Given the description of an element on the screen output the (x, y) to click on. 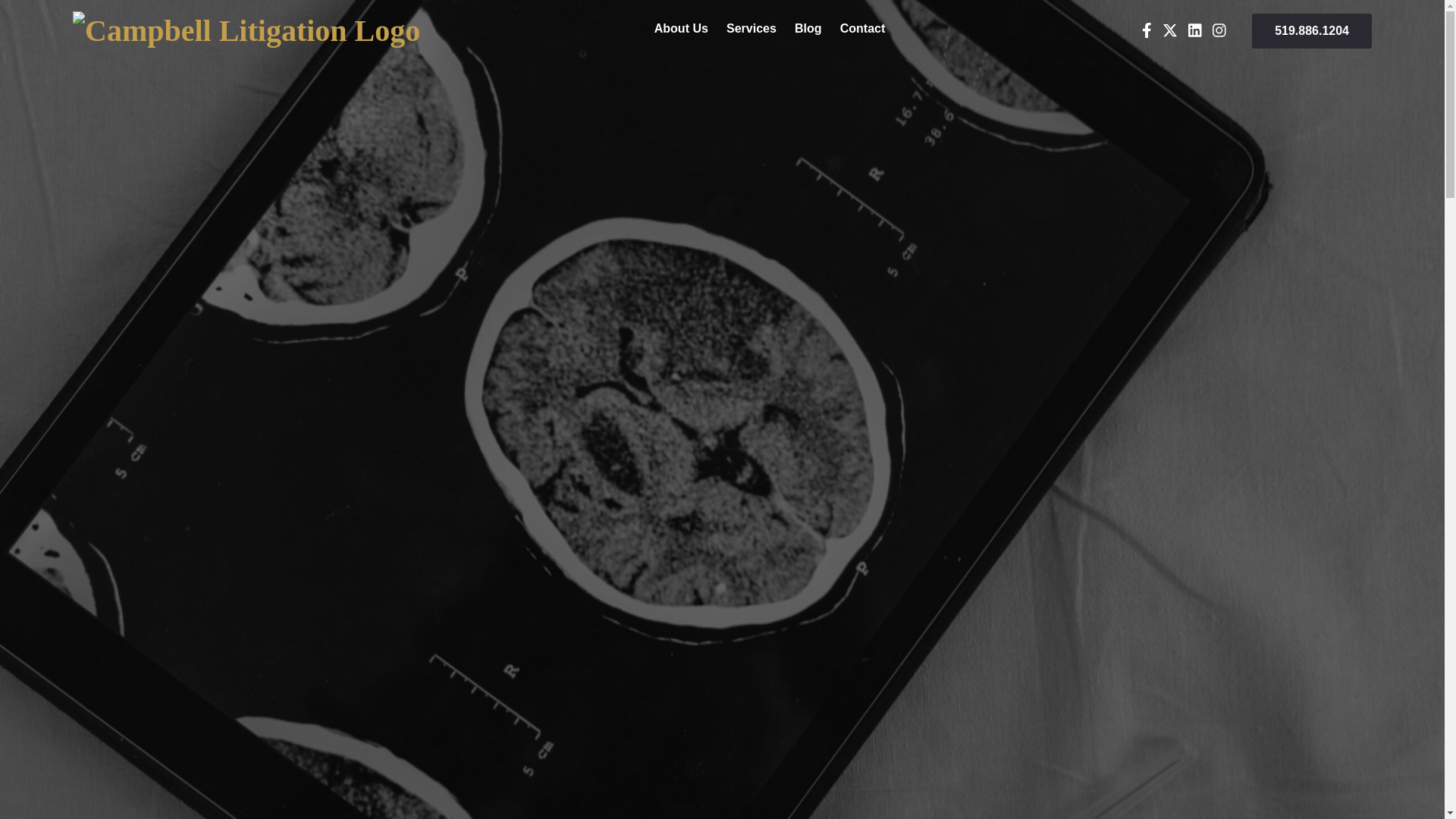
Blog (808, 31)
Services (751, 31)
Contact (862, 31)
About Us (680, 31)
